Given the description of an element on the screen output the (x, y) to click on. 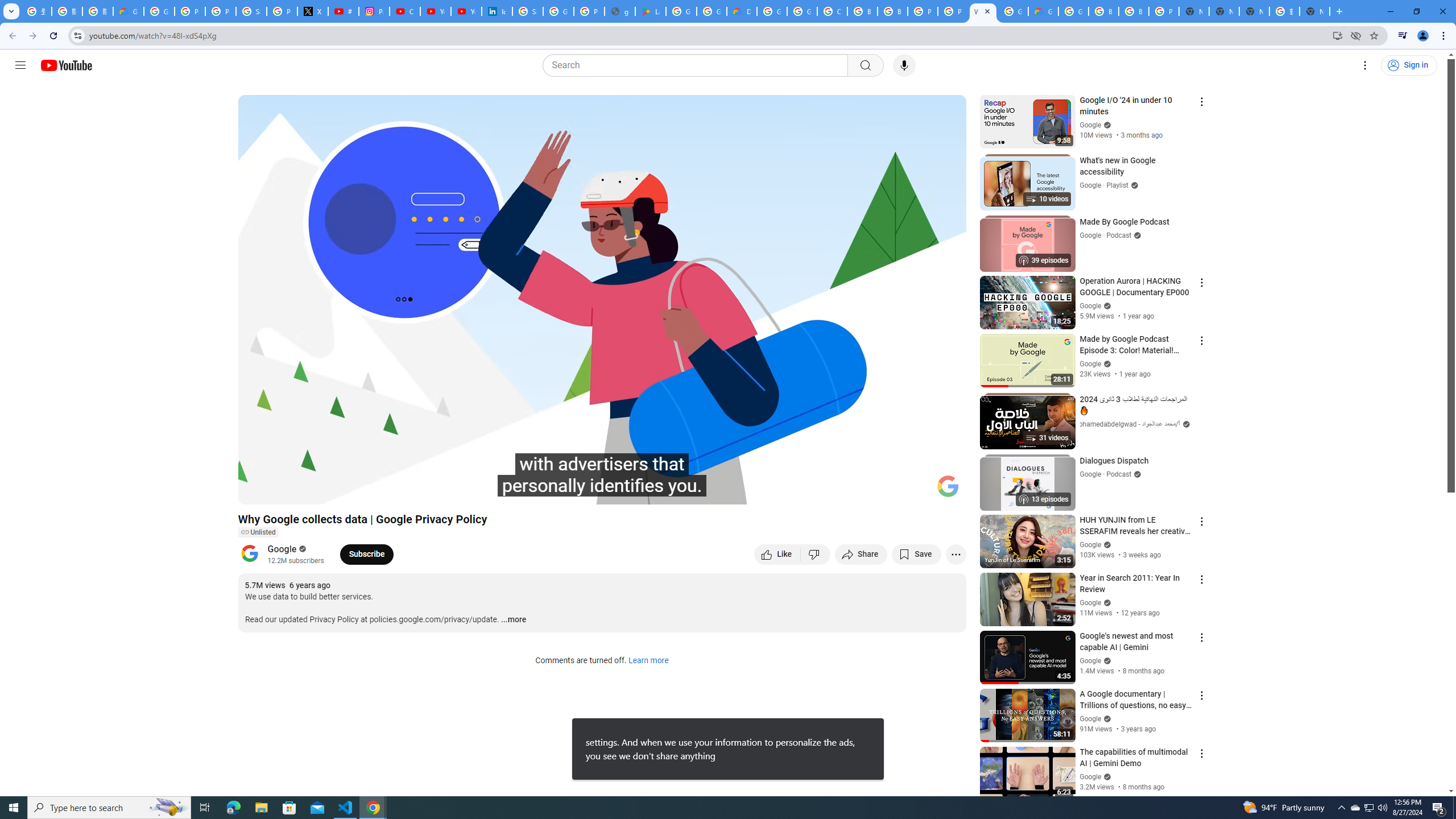
...more (512, 620)
Subscribe to Google. (366, 554)
Google Cloud Platform (771, 11)
Sign in - Google Accounts (251, 11)
Theater mode (t) (917, 490)
Sign in - Google Accounts (527, 11)
X (312, 11)
YouTube Home (66, 65)
